Given the description of an element on the screen output the (x, y) to click on. 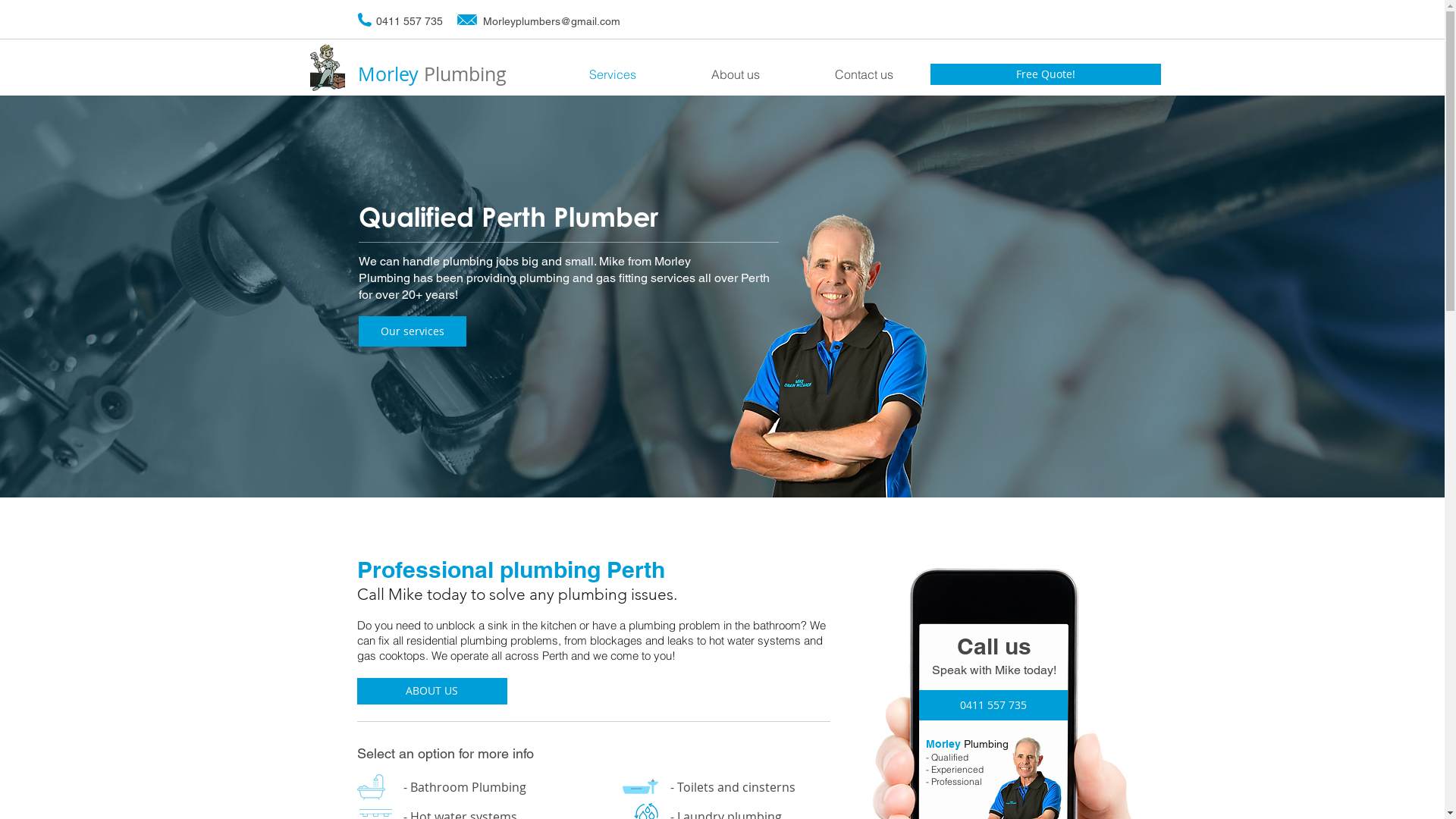
Morleyplumbers@gmail.com Element type: text (550, 21)
Services Element type: text (613, 73)
Contact us Element type: text (864, 73)
Our services Element type: text (411, 330)
- Bathroom Plumbing Element type: text (464, 786)
About us Element type: text (735, 73)
Plumbing Element type: text (464, 73)
- Toilets and cinsterns Element type: text (732, 786)
Morley  Element type: text (390, 73)
ABOUT US Element type: text (431, 690)
0411 557 735 Element type: text (993, 705)
